Given the description of an element on the screen output the (x, y) to click on. 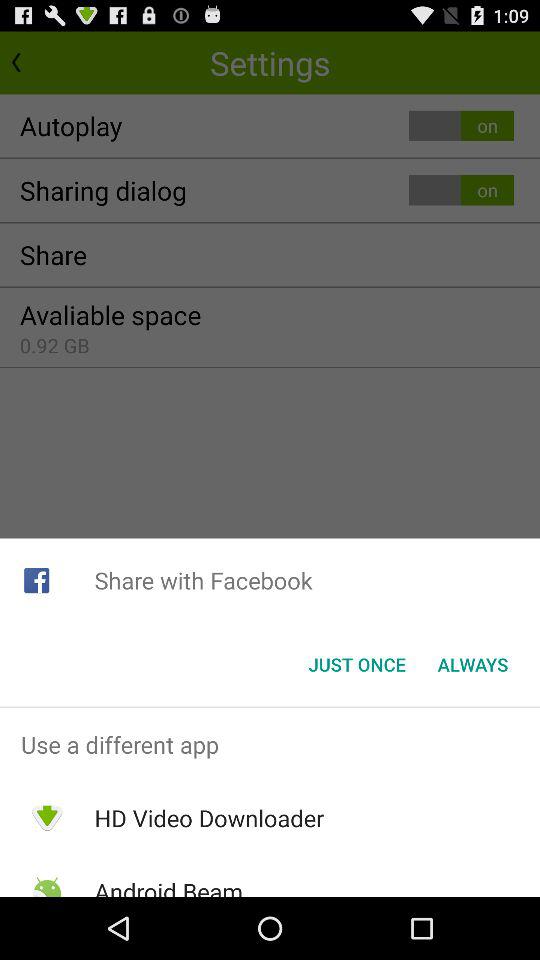
choose the hd video downloader icon (209, 817)
